Given the description of an element on the screen output the (x, y) to click on. 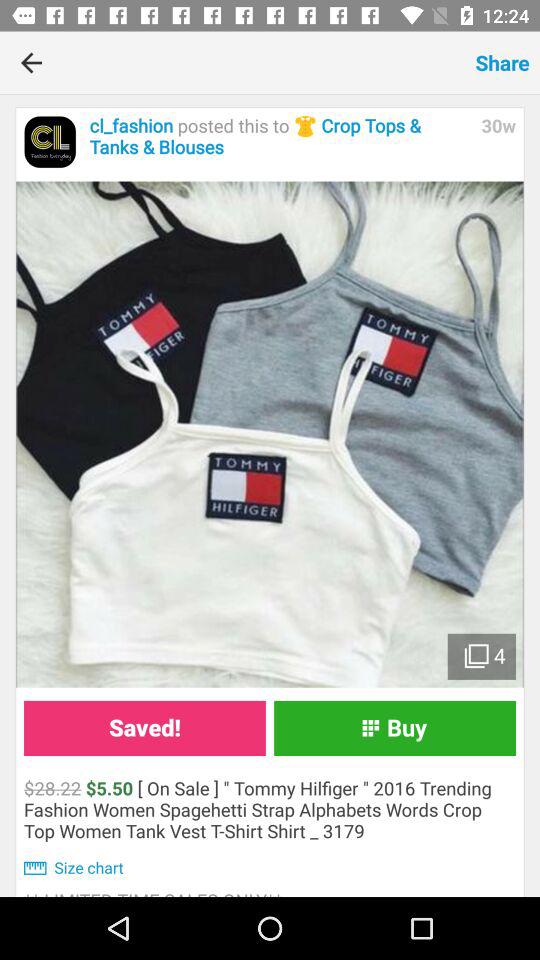
open the icon to the left of cl_fashion posted this item (50, 141)
